Given the description of an element on the screen output the (x, y) to click on. 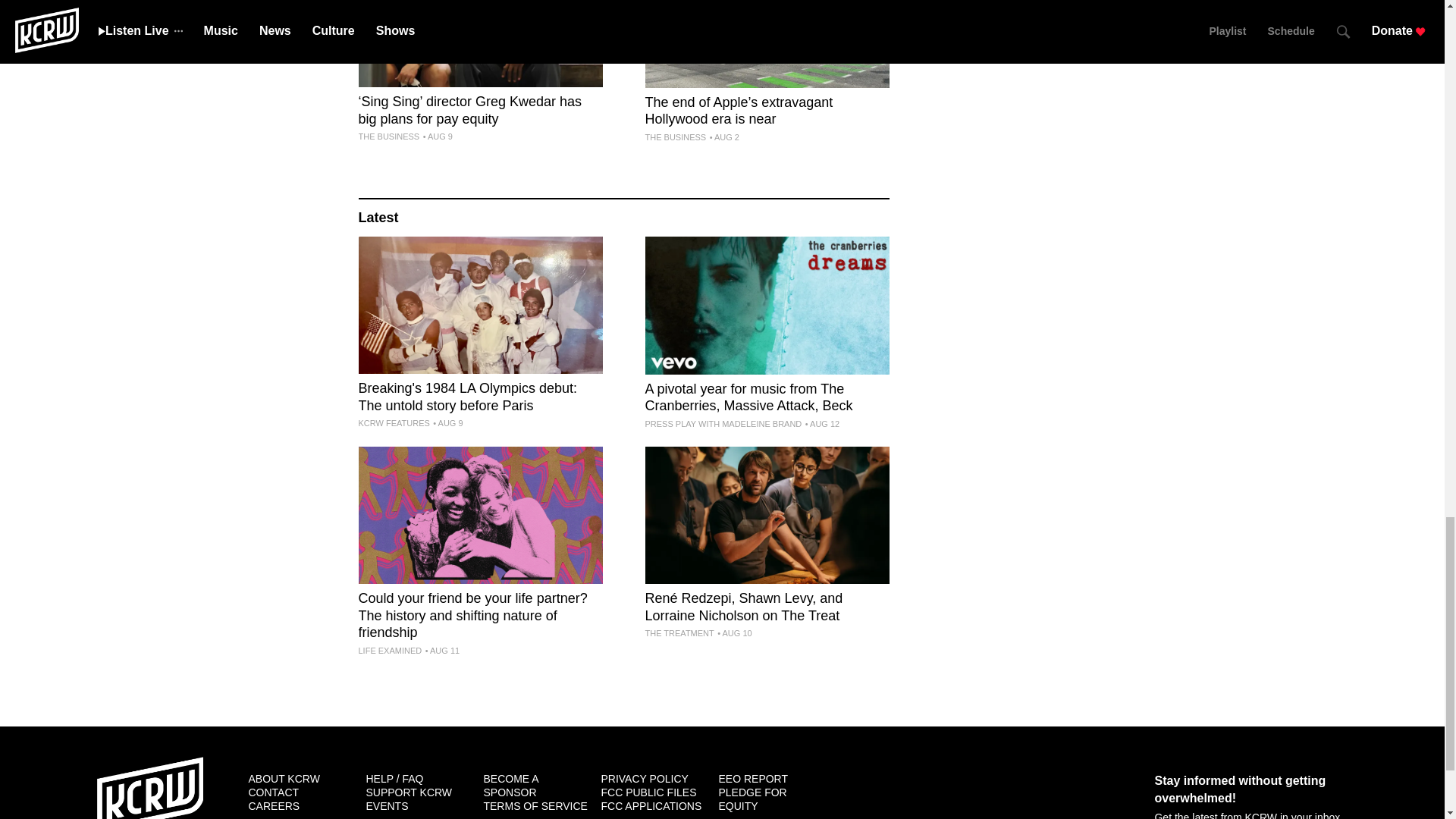
Download on the App Store (916, 789)
KCRW (150, 787)
Amazon Alexa enabled (1106, 789)
Get it on Google Play (1011, 789)
